Given the description of an element on the screen output the (x, y) to click on. 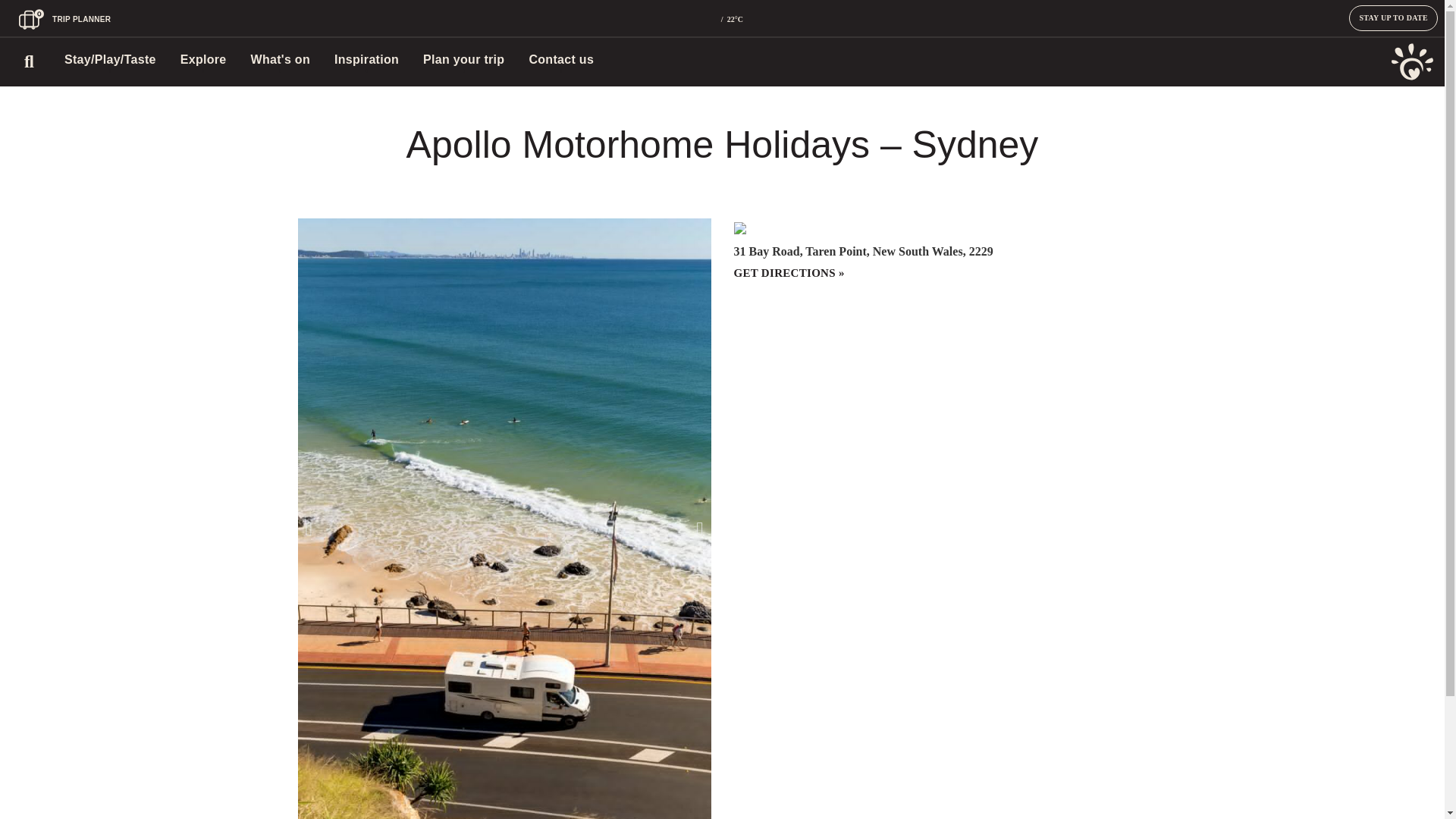
STAY UP TO DATE (1393, 17)
Contact us (561, 59)
Explore (203, 59)
Inspiration (366, 59)
Plan your trip (463, 59)
TRIP PLANNER (81, 19)
What's on (280, 59)
